Given the description of an element on the screen output the (x, y) to click on. 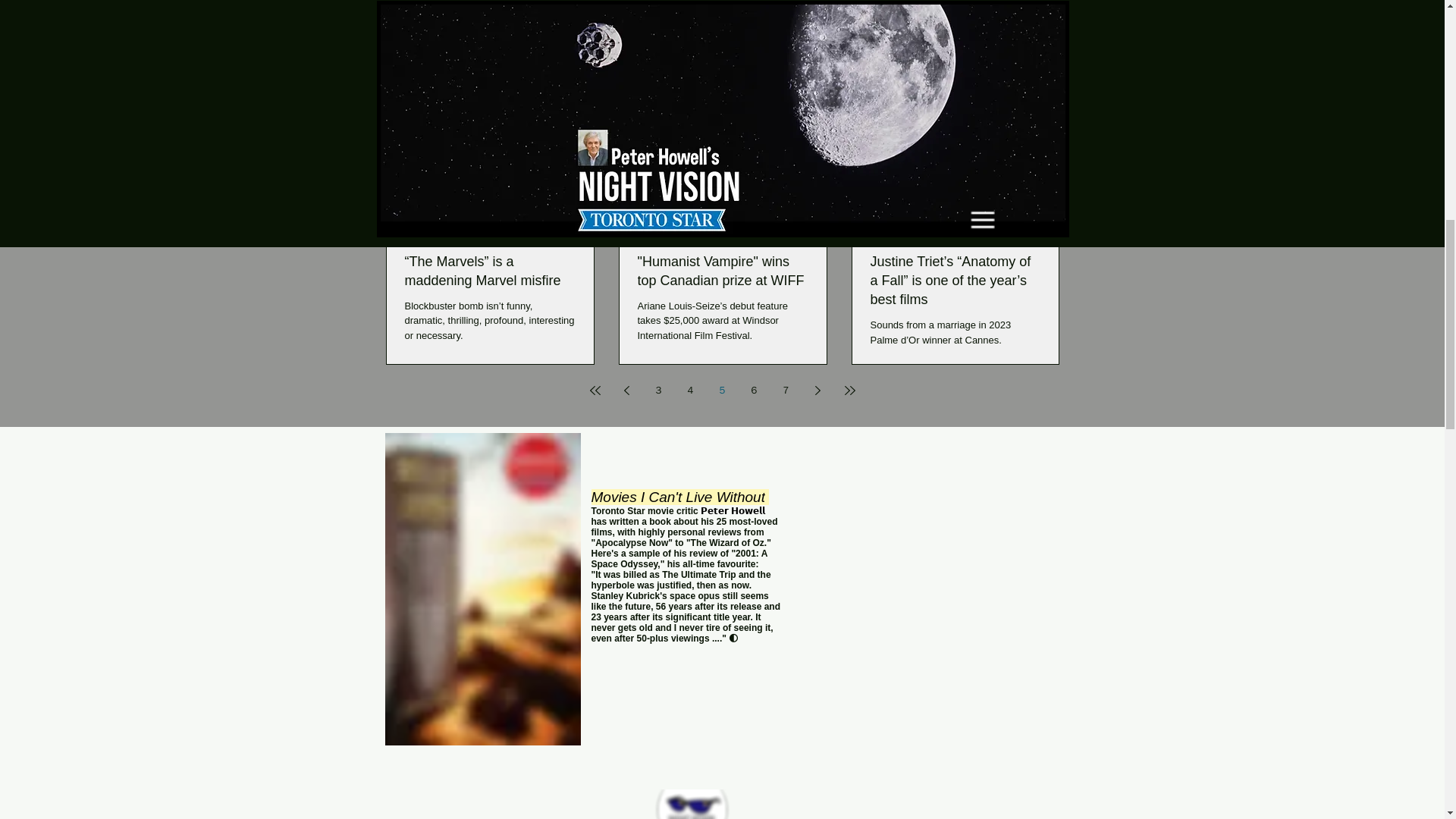
6 (753, 389)
4 (690, 389)
7 (785, 389)
3 (658, 389)
NightVizlogo22.jpeg (691, 803)
"Humanist Vampire" wins top Canadian prize at WIFF (722, 270)
